Given the description of an element on the screen output the (x, y) to click on. 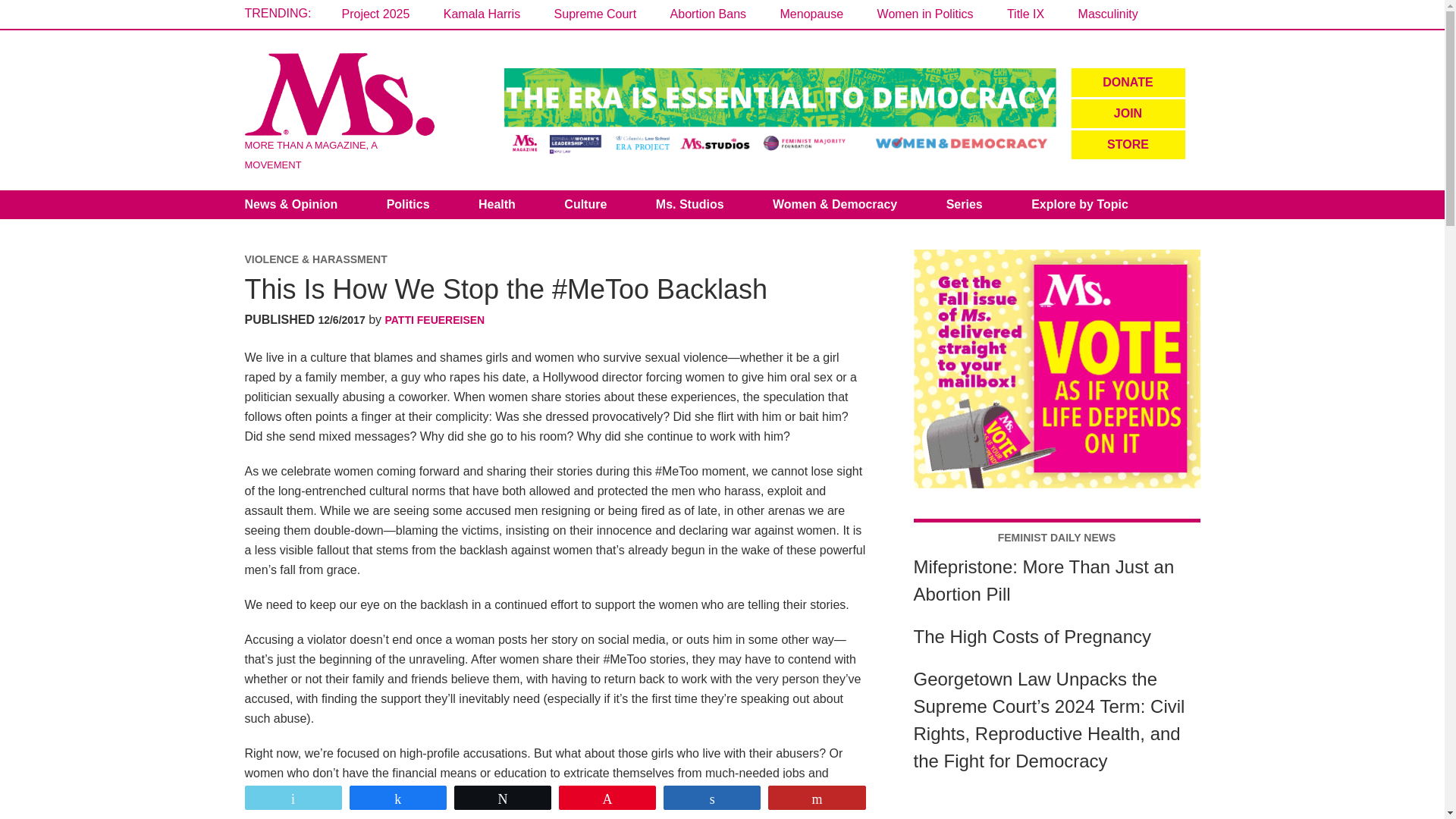
Explore by Topic (1080, 204)
Health (496, 204)
PATTI FEUEREISEN (434, 319)
Culture (584, 204)
DONATE (1127, 82)
Politics (408, 204)
Posts by Patti Feuereisen (434, 319)
Menopause (812, 13)
Ms. Studios (689, 204)
Supreme Court (595, 13)
Title IX (1025, 13)
Women in Politics (925, 13)
STORE (1127, 144)
Abortion Bans (707, 13)
Masculinity (1108, 13)
